Given the description of an element on the screen output the (x, y) to click on. 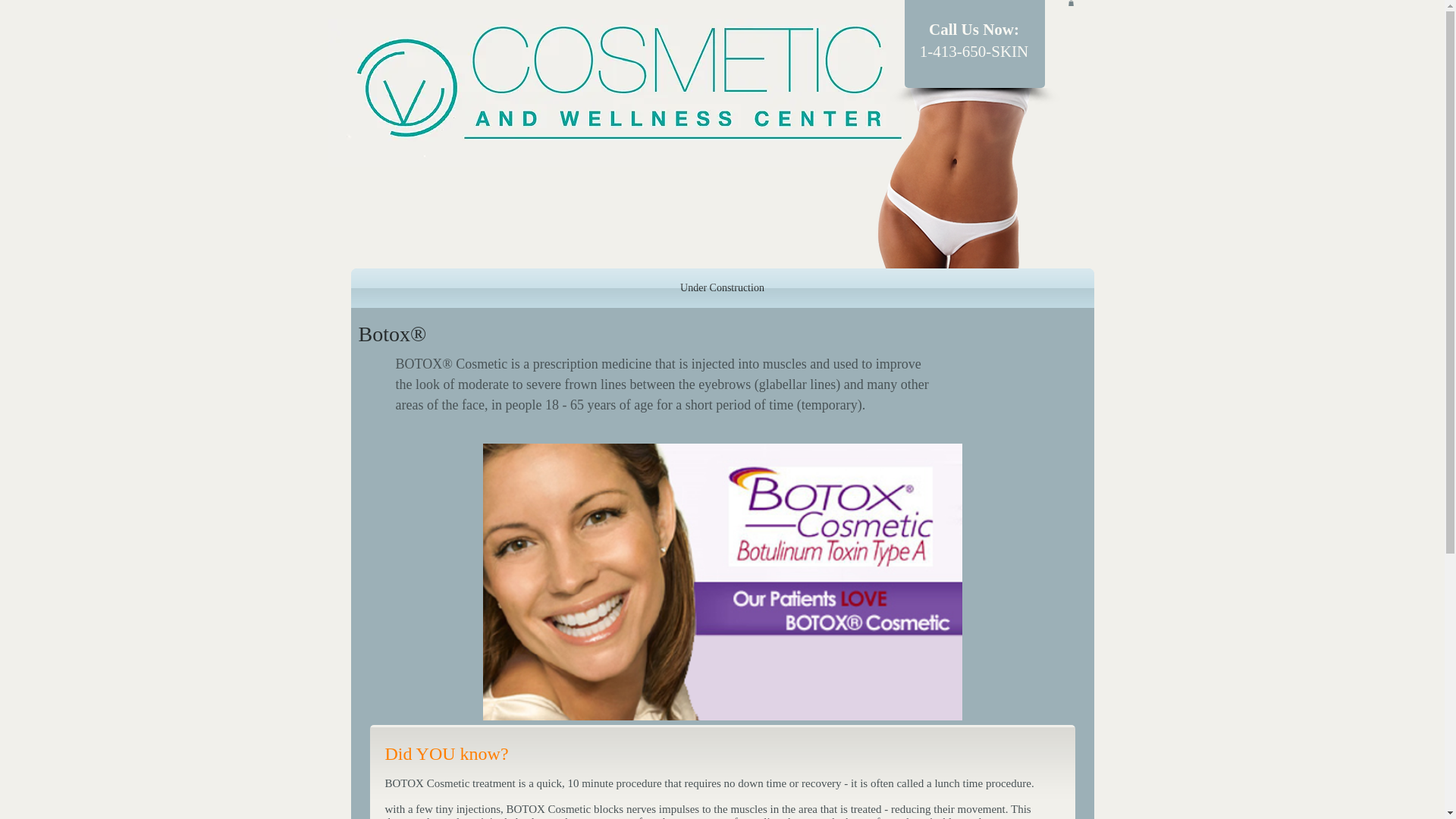
Under Construction (721, 287)
NEW.jpg (615, 92)
Twitter Follow (780, 246)
Facebook Like (469, 250)
p.png (962, 167)
